Given the description of an element on the screen output the (x, y) to click on. 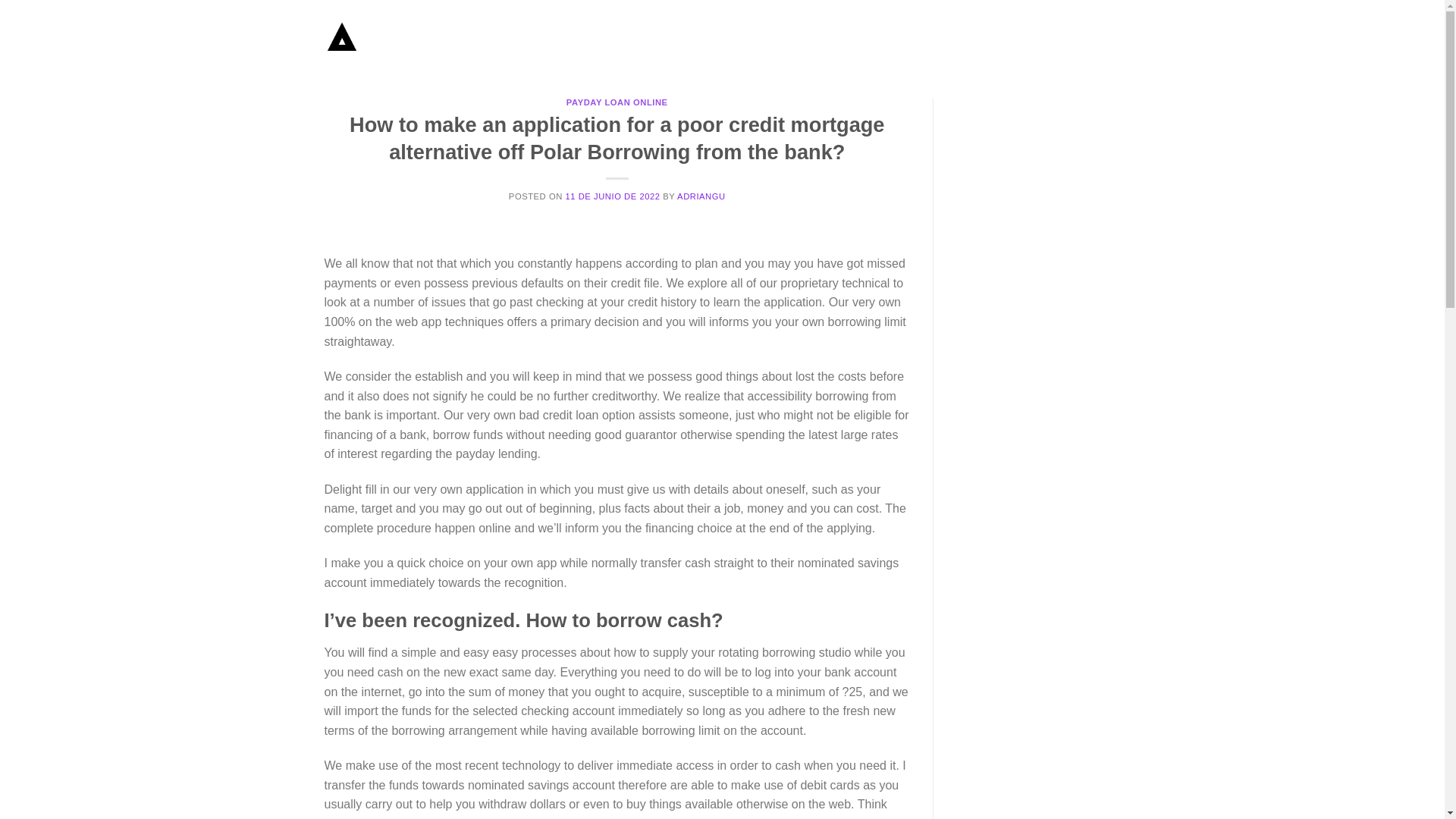
ADRIANGU (701, 195)
PAYDAY LOAN ONLINE (617, 102)
11 DE JUNIO DE 2022 (611, 195)
PROYECTOS (961, 37)
HOME (905, 37)
CONTACTO (1091, 37)
